Given the description of an element on the screen output the (x, y) to click on. 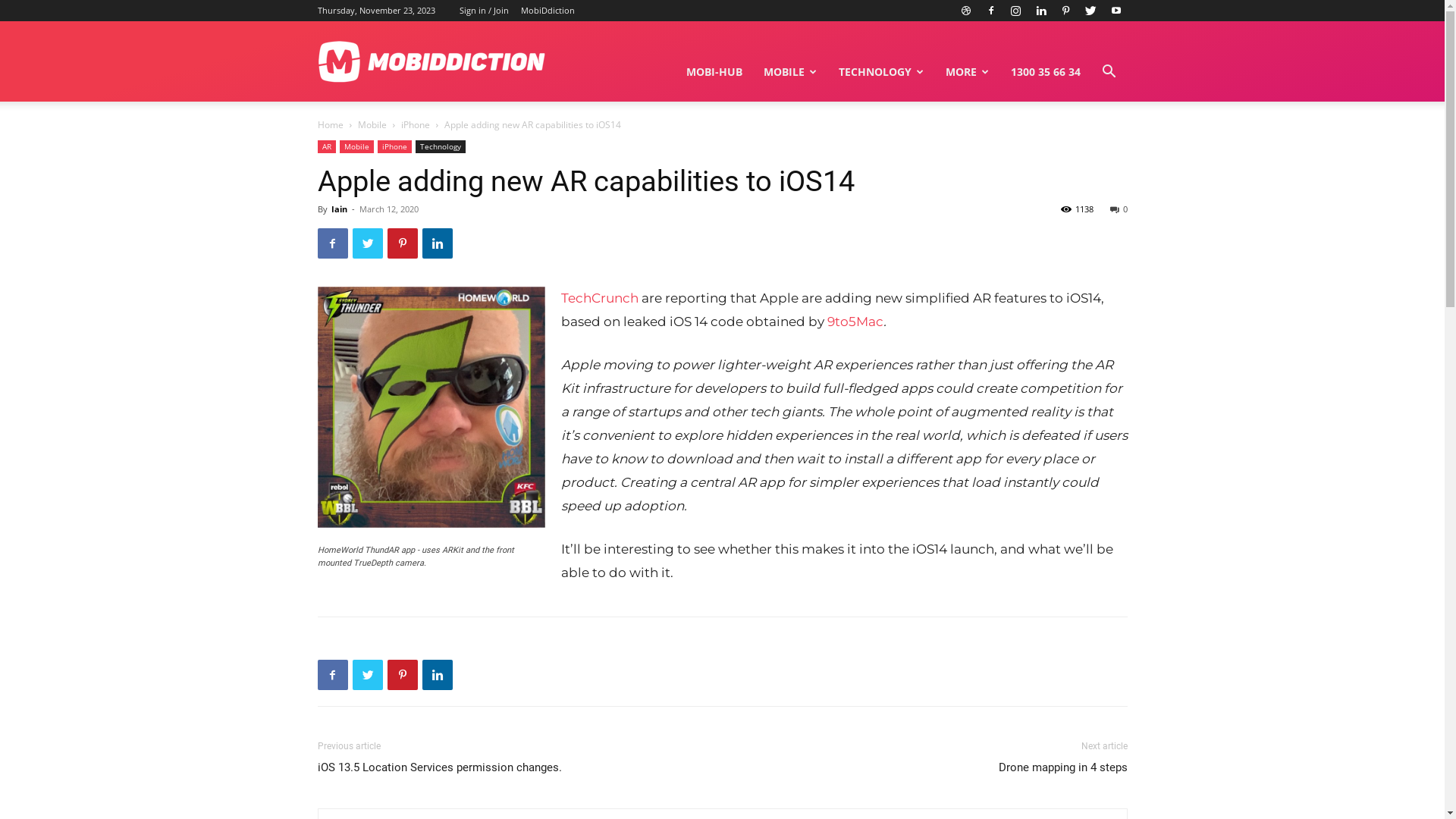
Twitter Element type: hover (1090, 10)
Facebook Element type: hover (331, 243)
Home Element type: text (329, 124)
Technology Element type: text (440, 146)
Linkedin Element type: hover (436, 243)
Mobile Element type: text (356, 146)
Search Element type: text (1085, 143)
Facebook Element type: hover (990, 10)
MOBI-HUB Element type: text (713, 71)
MobiDdiction Element type: text (547, 9)
Facebook Element type: hover (331, 674)
0 Element type: text (1118, 208)
Pinterest Element type: hover (1065, 10)
iOS 13.5 Location Services permission changes. Element type: text (438, 767)
Instagram Element type: hover (1015, 10)
TechCrunch Element type: text (599, 297)
Dribbble Element type: hover (964, 10)
Pinterest Element type: hover (401, 243)
MORE Element type: text (966, 71)
iPhone Element type: text (394, 146)
HomeWorld Cricket Activation AR app Element type: hover (430, 406)
9to5Mac Element type: text (854, 321)
Iain Element type: text (338, 208)
iPhone Element type: text (414, 124)
TECHNOLOGY Element type: text (881, 71)
Mobile Element type: text (371, 124)
AR Element type: text (325, 146)
Mobi Hub Element type: text (430, 60)
Twitter Element type: hover (366, 243)
MOBILE Element type: text (789, 71)
Youtube Element type: hover (1115, 10)
Linkedin Element type: hover (436, 674)
Linkedin Element type: hover (1040, 10)
Twitter Element type: hover (366, 674)
Pinterest Element type: hover (401, 674)
Sign in / Join Element type: text (483, 9)
1300 35 66 34 Element type: text (1044, 71)
Drone mapping in 4 steps Element type: text (1061, 767)
